Given the description of an element on the screen output the (x, y) to click on. 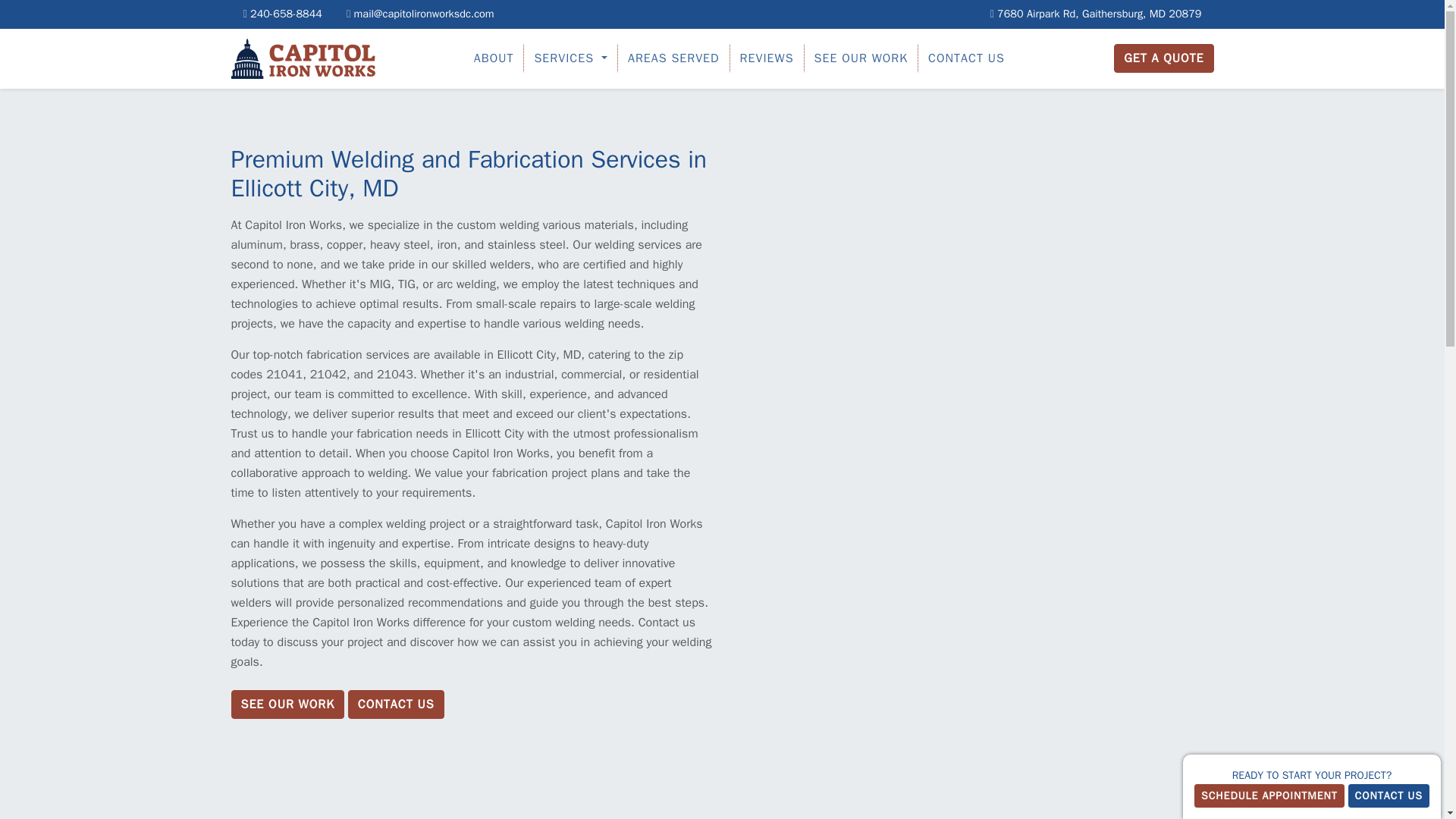
GET A QUOTE (1162, 58)
CONTACT US (966, 58)
SERVICES (570, 58)
SEE OUR WORK (861, 58)
AREAS SERVED (673, 58)
ABOUT (494, 58)
CONTACT US (395, 704)
SEE OUR WORK (286, 704)
REVIEWS (767, 58)
7680 Airpark Rd, Gaithersburg, MD 20879 (1096, 14)
240-658-8844 (282, 14)
